Given the description of an element on the screen output the (x, y) to click on. 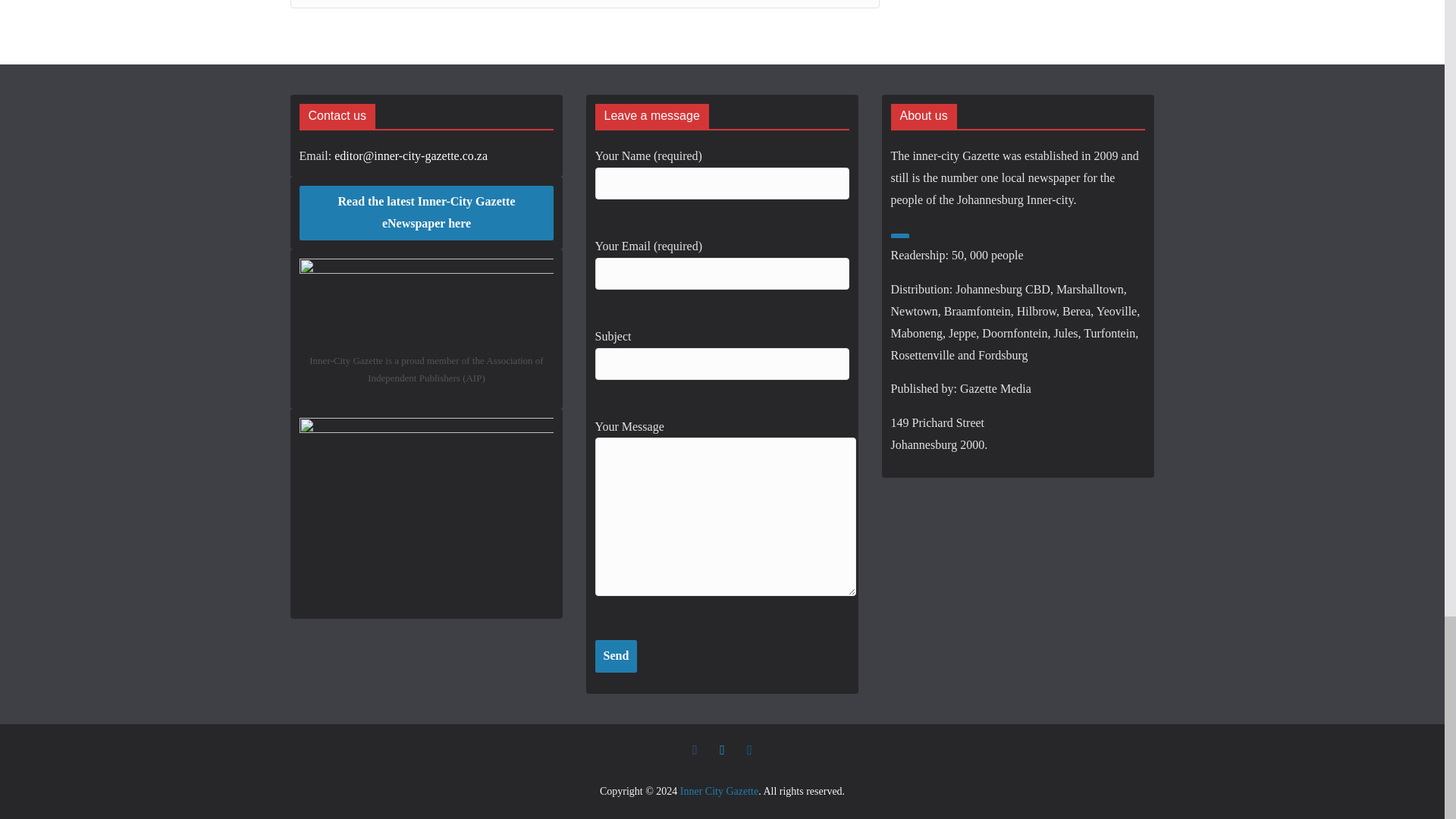
Send (615, 655)
7.3.5 (584, 4)
